Given the description of an element on the screen output the (x, y) to click on. 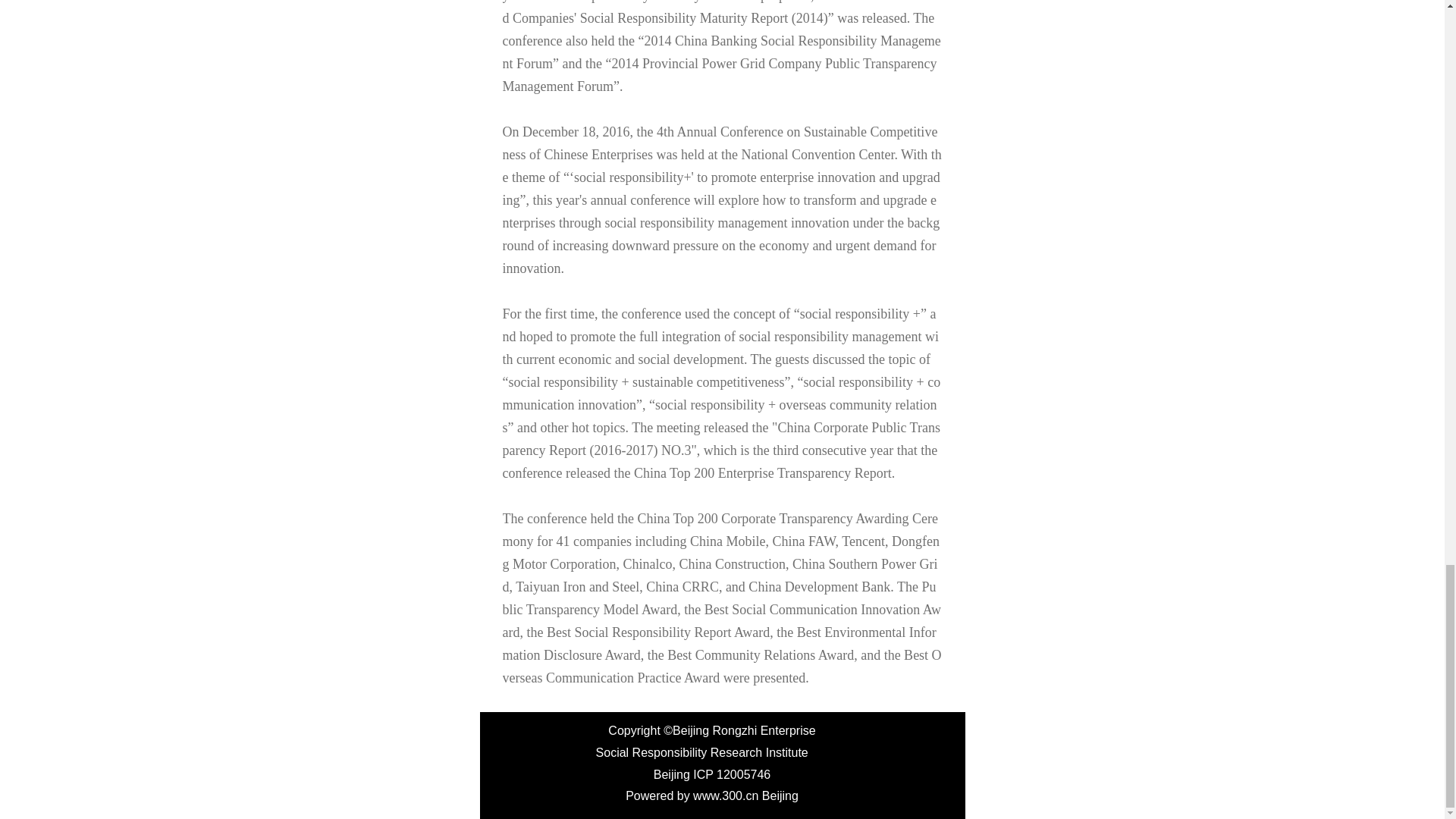
Beijing (779, 795)
Powered by www.300.cn (692, 795)
Beijing ICP 12005746 (712, 774)
